Given the description of an element on the screen output the (x, y) to click on. 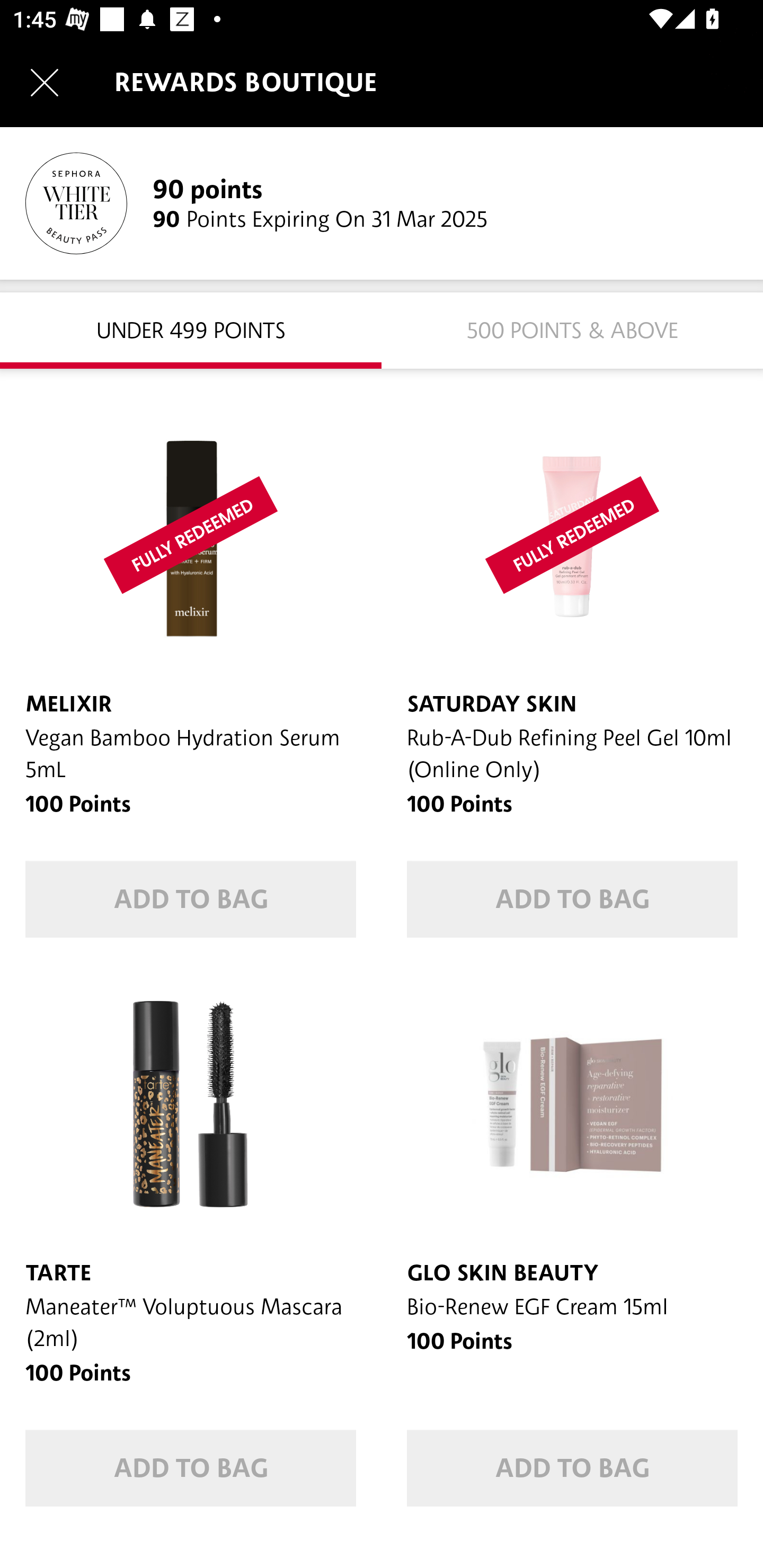
Navigate up (44, 82)
500 Points & Above 500 POINTS & ABOVE (572, 329)
ADD TO BAG (190, 898)
ADD TO BAG (571, 898)
ADD TO BAG (190, 1468)
ADD TO BAG (571, 1468)
